Given the description of an element on the screen output the (x, y) to click on. 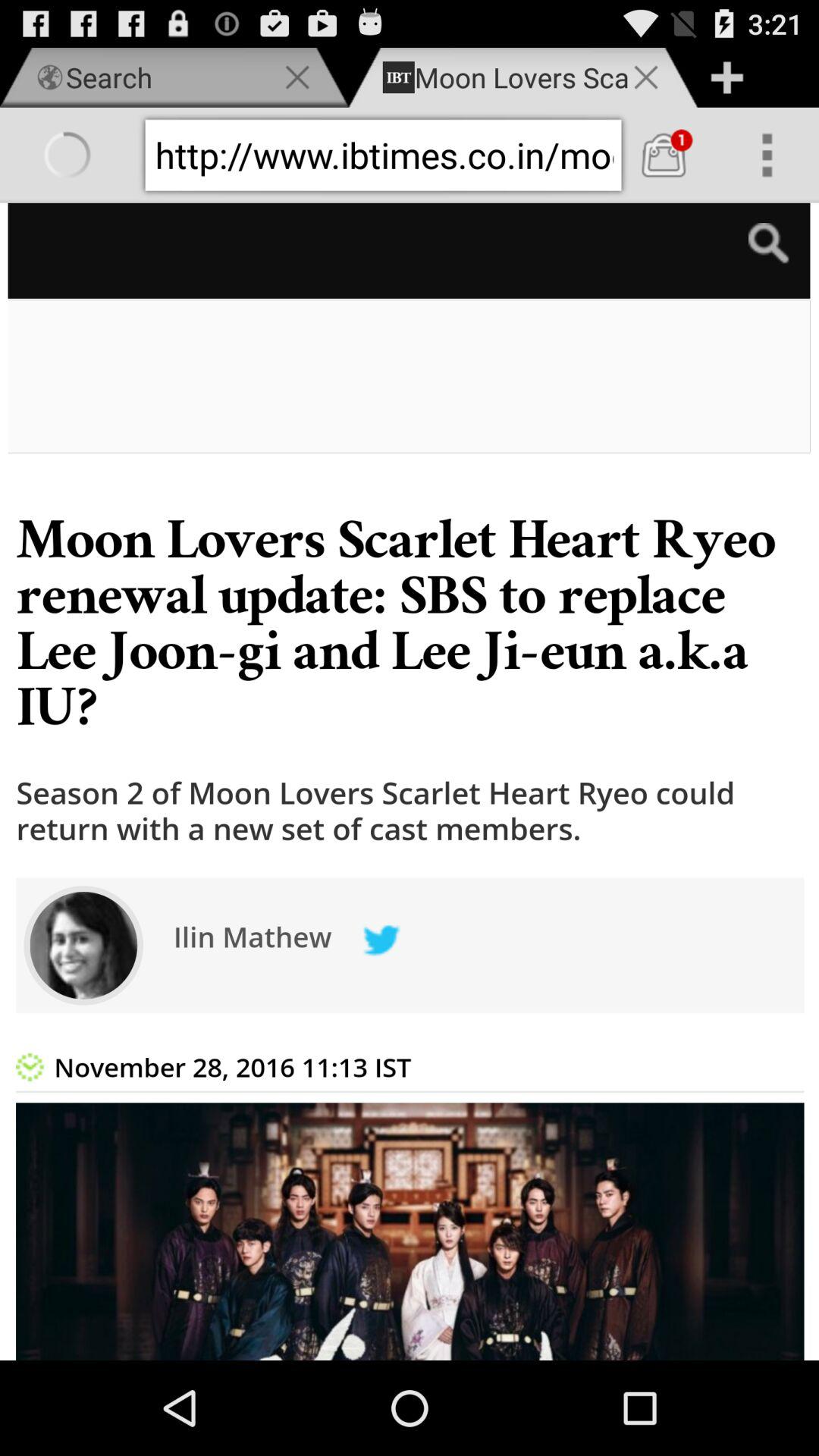
notification button (663, 155)
